Given the description of an element on the screen output the (x, y) to click on. 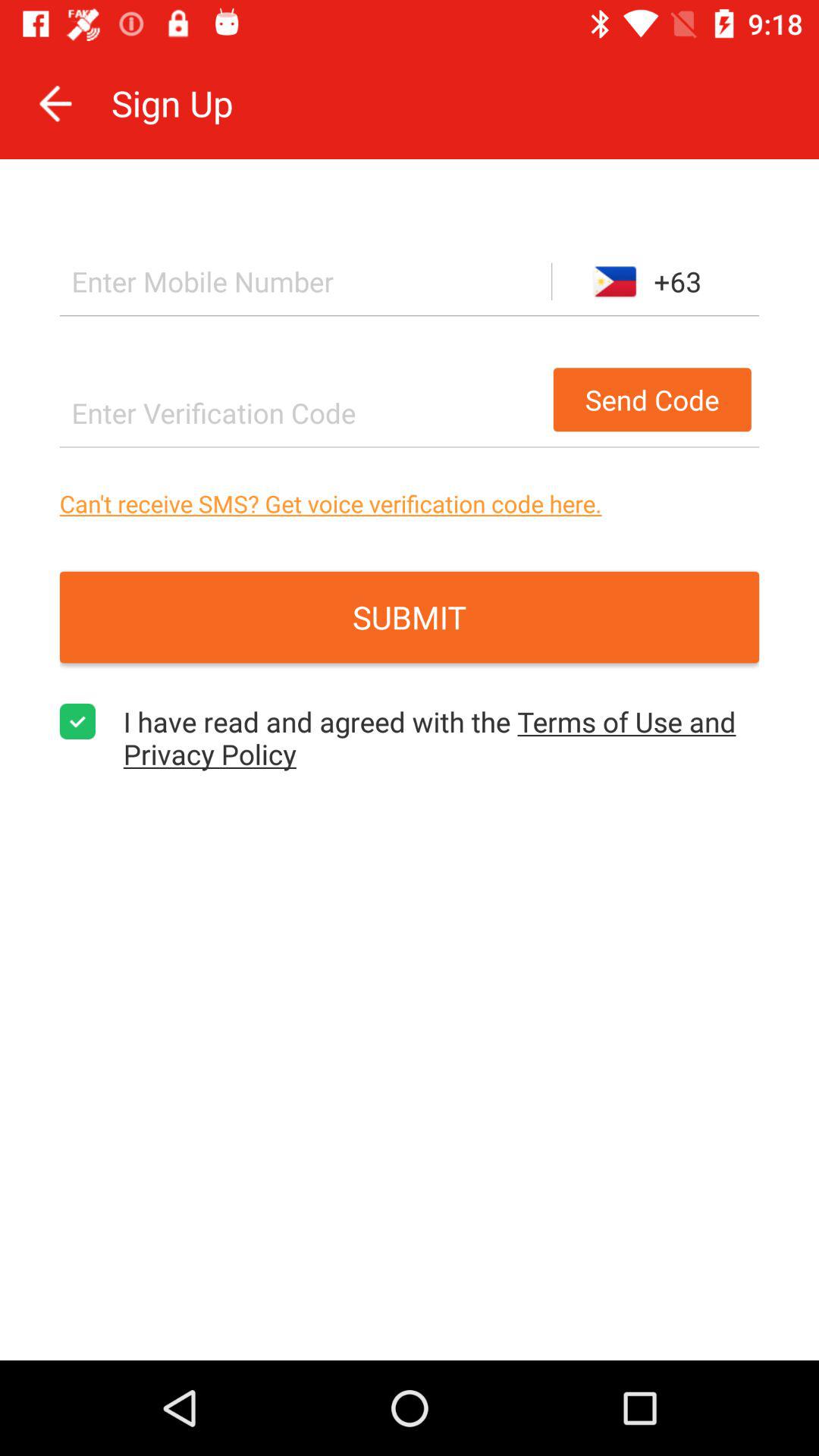
click the icon next to the sign up icon (55, 103)
